Given the description of an element on the screen output the (x, y) to click on. 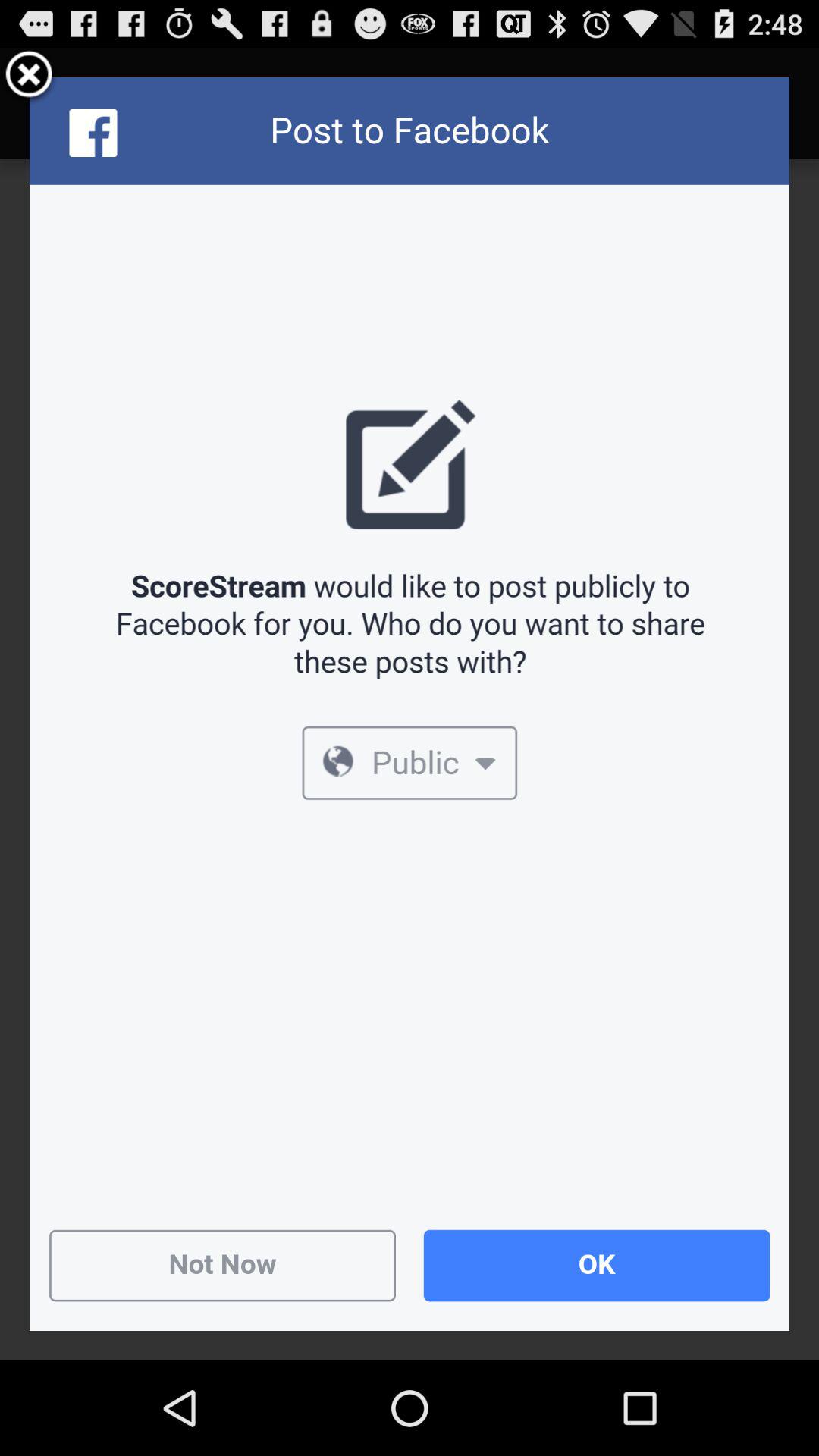
close the page (29, 76)
